Given the description of an element on the screen output the (x, y) to click on. 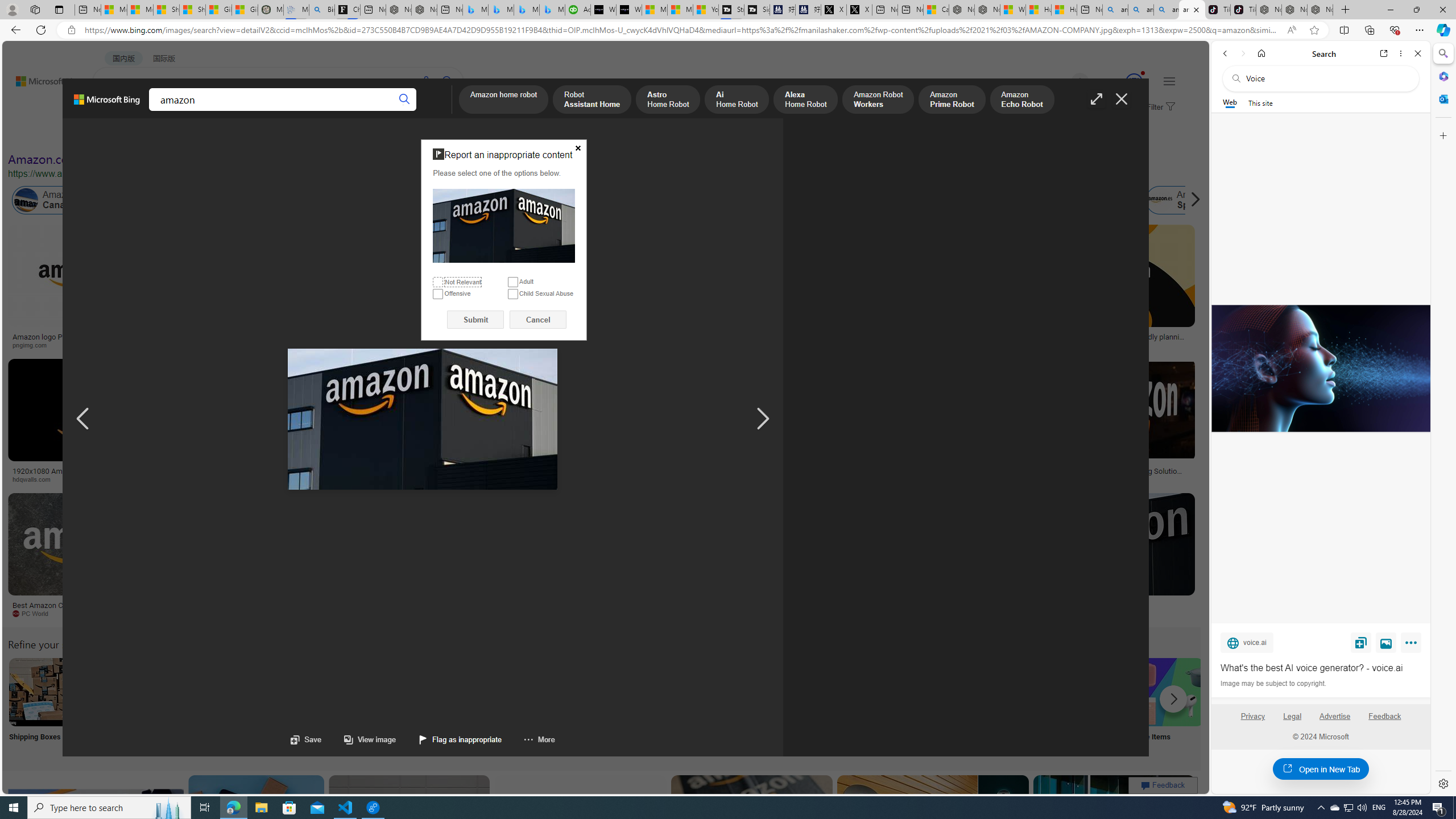
logopng.com.br (764, 344)
Child Sexual Abuse (512, 293)
Type (212, 135)
Amazon Animals (426, 199)
Amazon Wish List (568, 691)
Full screen (1096, 99)
Bing Real Estate - Home sales and rental listings (321, 9)
Amazon Clip Art Clip Art (192, 706)
Amazonprotothema.grSave (1104, 557)
Side bar (1443, 418)
Invisible focusable element for fixing accessibility issue (425, 142)
